Given the description of an element on the screen output the (x, y) to click on. 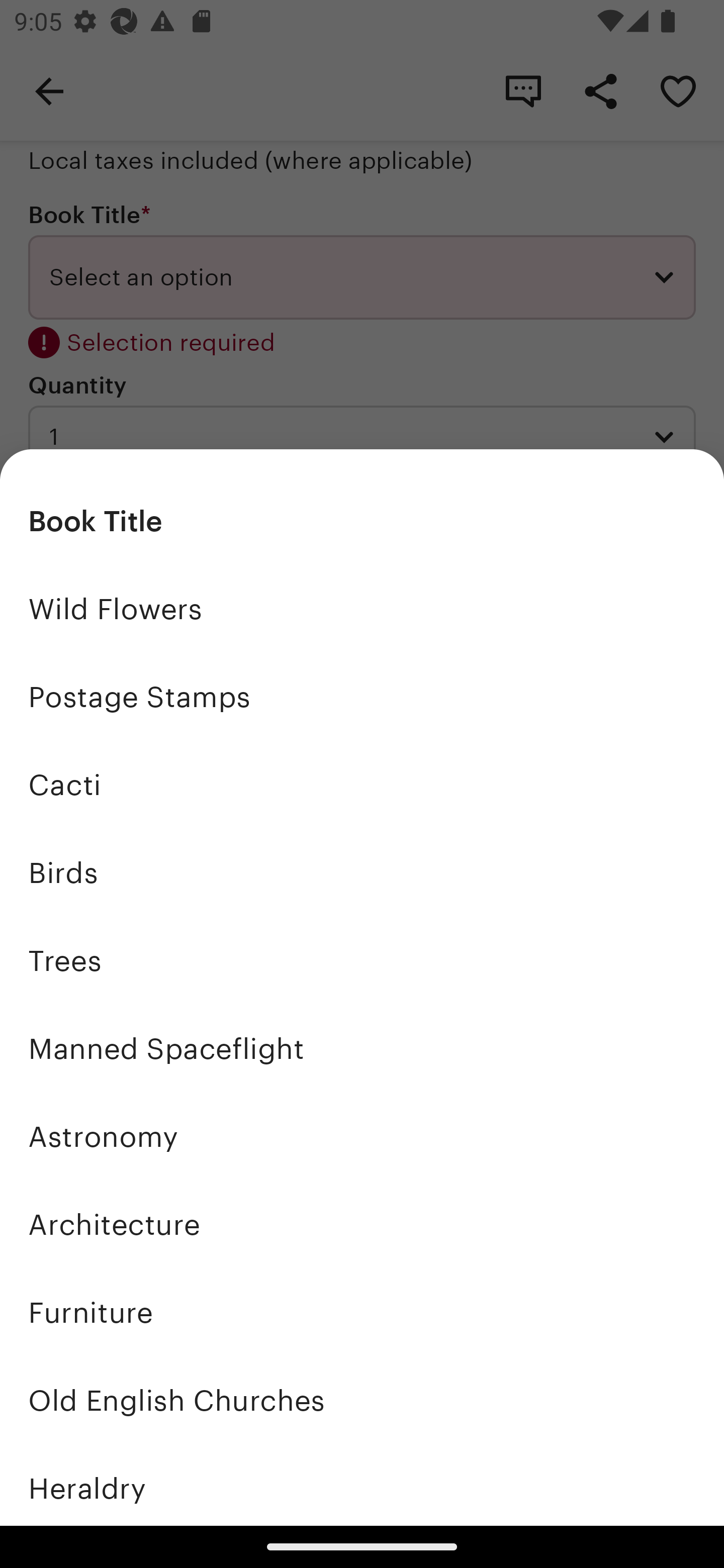
Wild Flowers (362, 609)
Postage Stamps (362, 697)
Cacti (362, 785)
Birds (362, 873)
Trees (362, 961)
Manned Spaceflight (362, 1048)
Astronomy (362, 1136)
Architecture (362, 1224)
Furniture (362, 1312)
Old English Churches (362, 1400)
Heraldry (362, 1484)
